Given the description of an element on the screen output the (x, y) to click on. 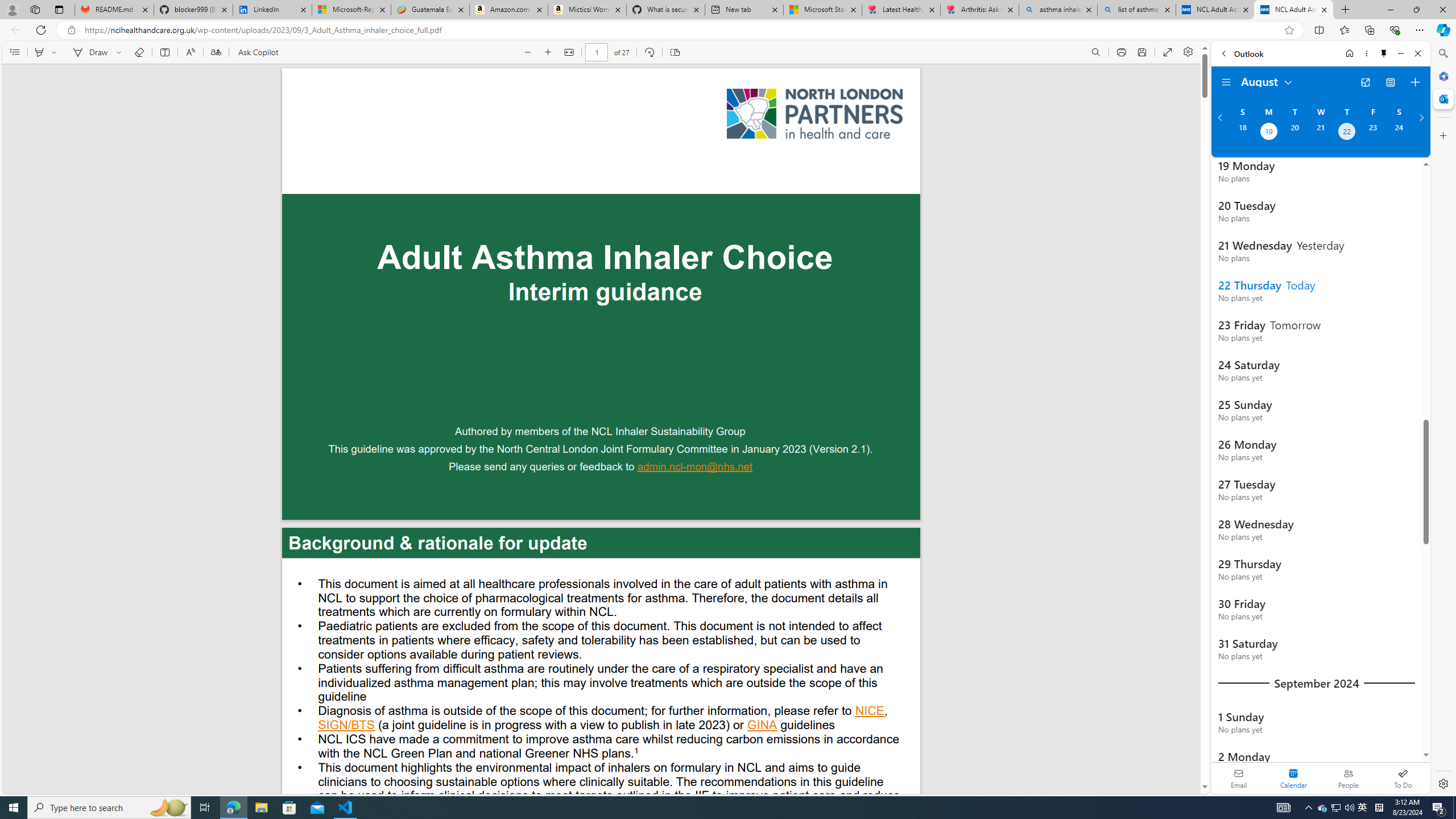
Page view (674, 52)
Rotate (Ctrl+]) (649, 52)
View Switcher. Current view is Agenda view (1390, 82)
Zoom in (Ctrl+Plus key) (548, 52)
Unlabeled graphic (814, 114)
Thursday, August 22, 2024. Today.  (1346, 132)
